Given the description of an element on the screen output the (x, y) to click on. 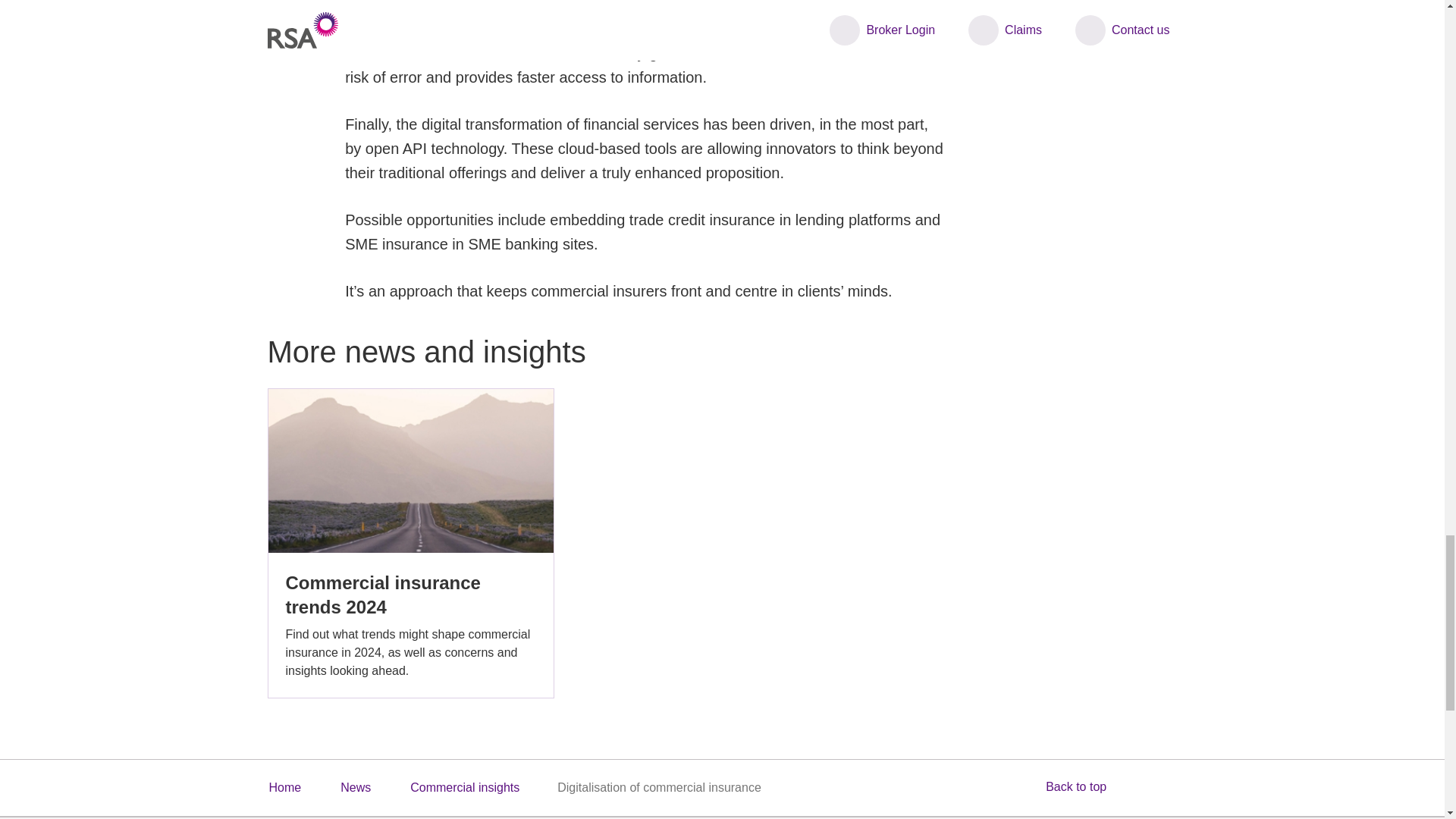
Commercial insurance trends 2024 (410, 543)
